Given the description of an element on the screen output the (x, y) to click on. 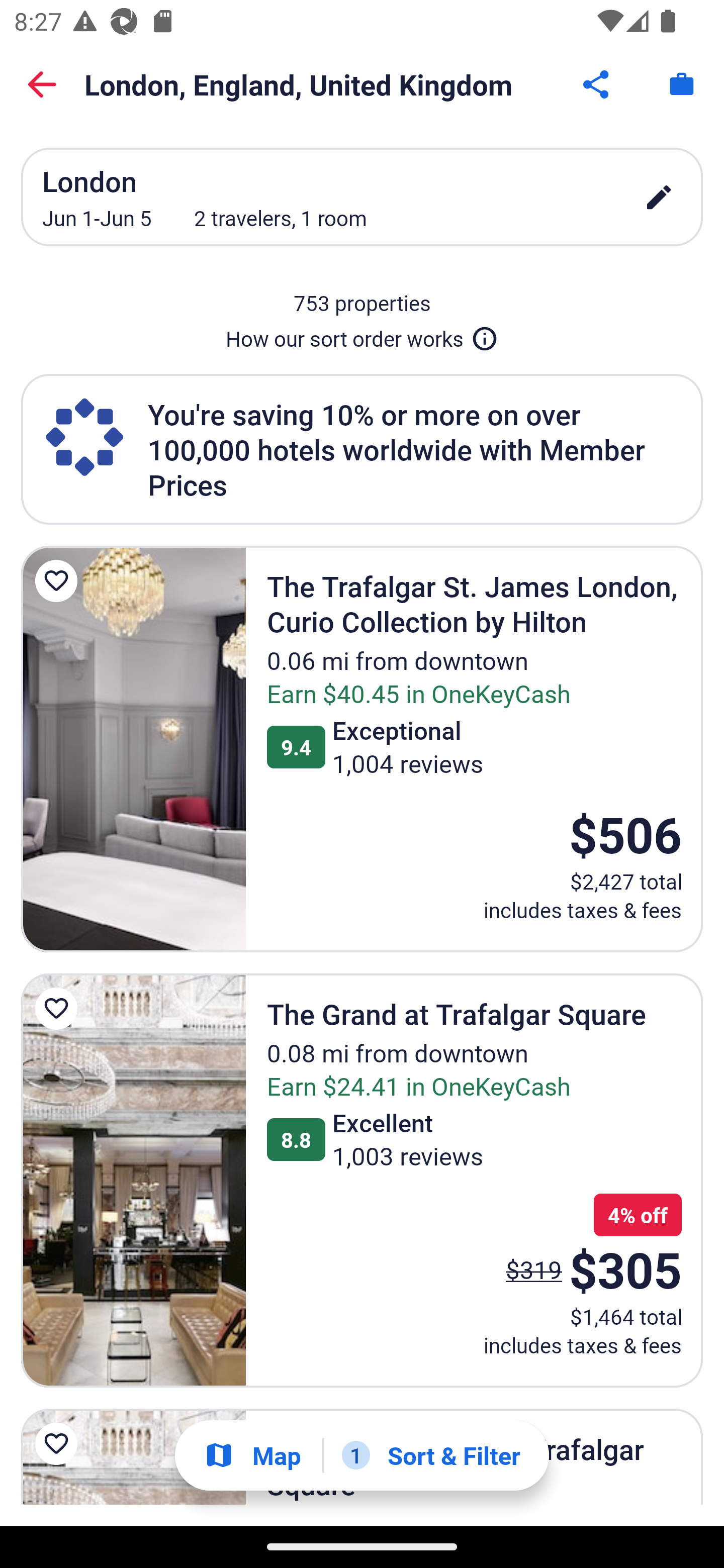
Back (42, 84)
Share Button (597, 84)
Trips. Button (681, 84)
London Jun 1-Jun 5 2 travelers, 1 room edit (361, 196)
How our sort order works (361, 334)
Save The Grand at Trafalgar Square to a trip (59, 1007)
The Grand at Trafalgar Square (133, 1180)
$319 The price was $319 (533, 1269)
1 Sort & Filter 1 Filter applied. Filters Button (430, 1455)
Show map Map Show map Button (252, 1455)
